Given the description of an element on the screen output the (x, y) to click on. 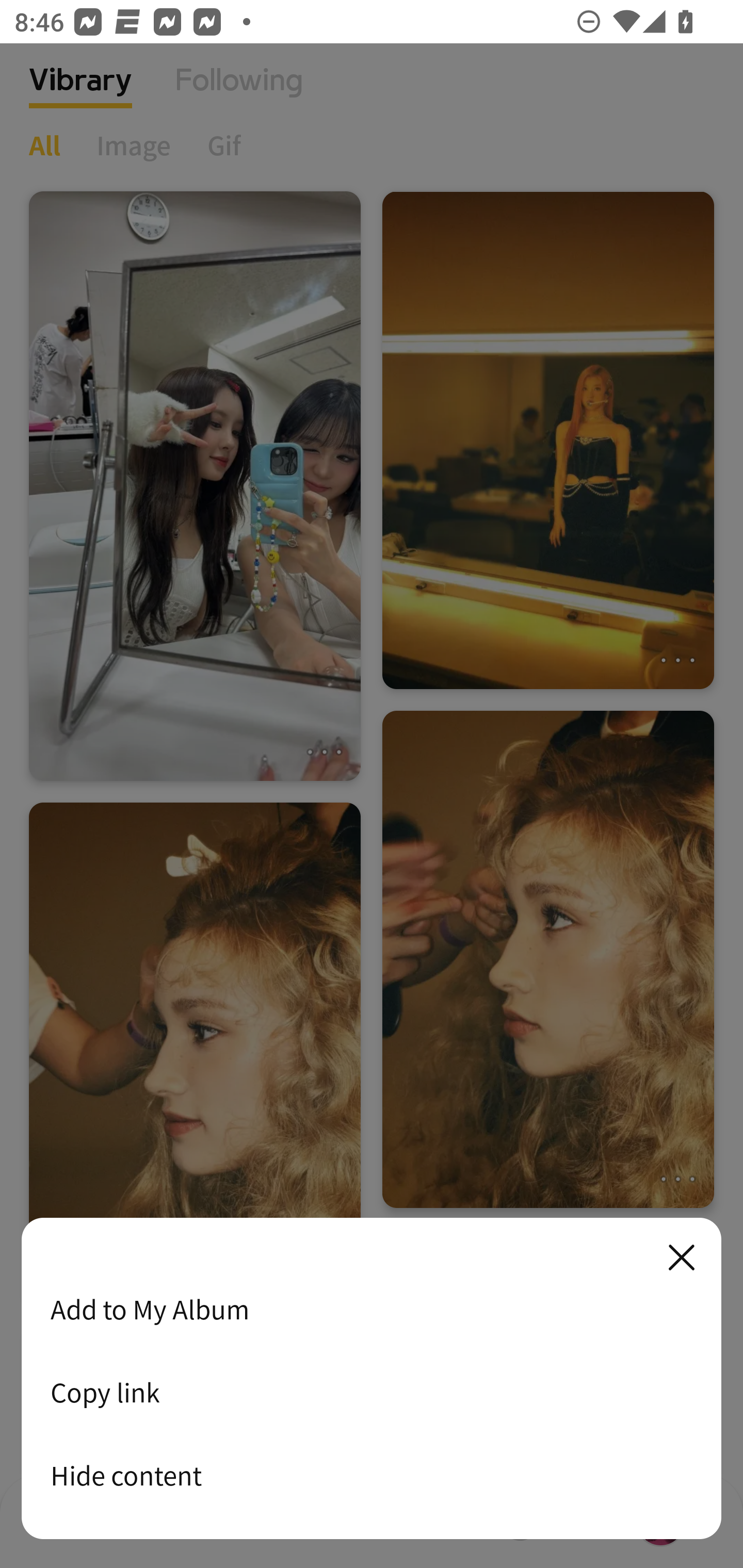
Add to My Album Copy link Hide content (371, 1378)
Add to My Album (371, 1308)
Copy link (371, 1391)
Hide content (371, 1474)
